Given the description of an element on the screen output the (x, y) to click on. 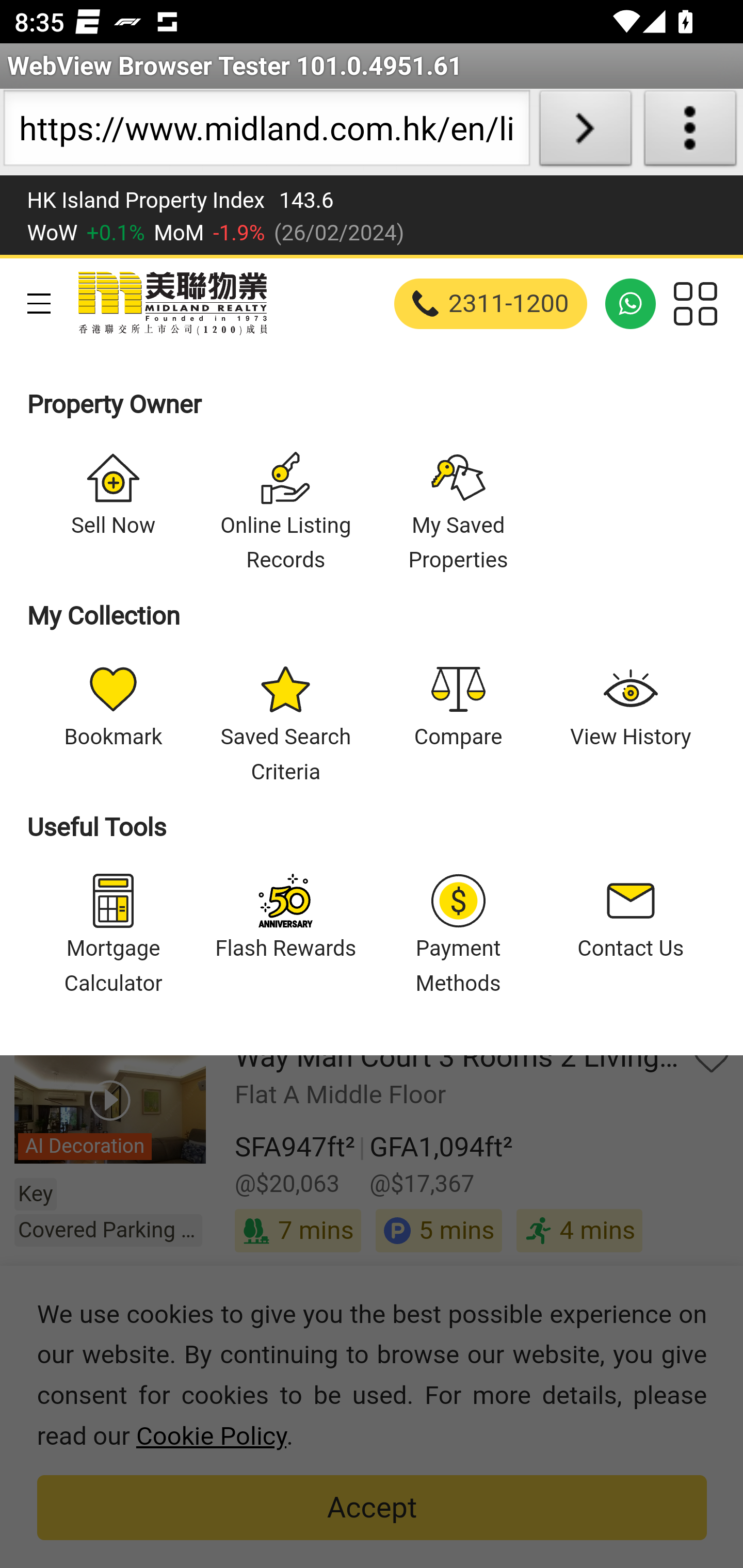
Load URL (585, 132)
About WebView (690, 132)
Midland Realty - Property Agency in Hong Kong (171, 303)
2311-1200 (490, 302)
WhatsApp: 2311-1200 (630, 302)
